Given the description of an element on the screen output the (x, y) to click on. 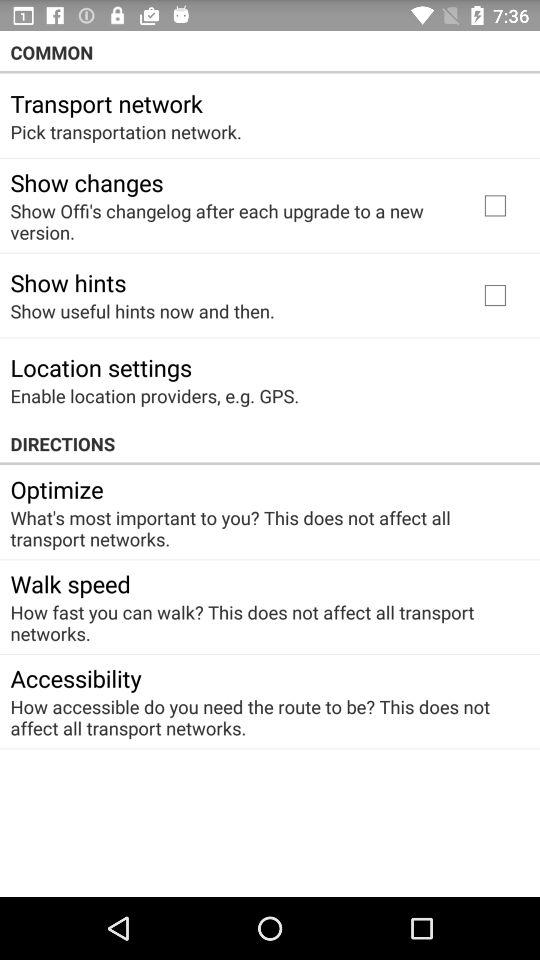
scroll to the walk speed (70, 584)
